Given the description of an element on the screen output the (x, y) to click on. 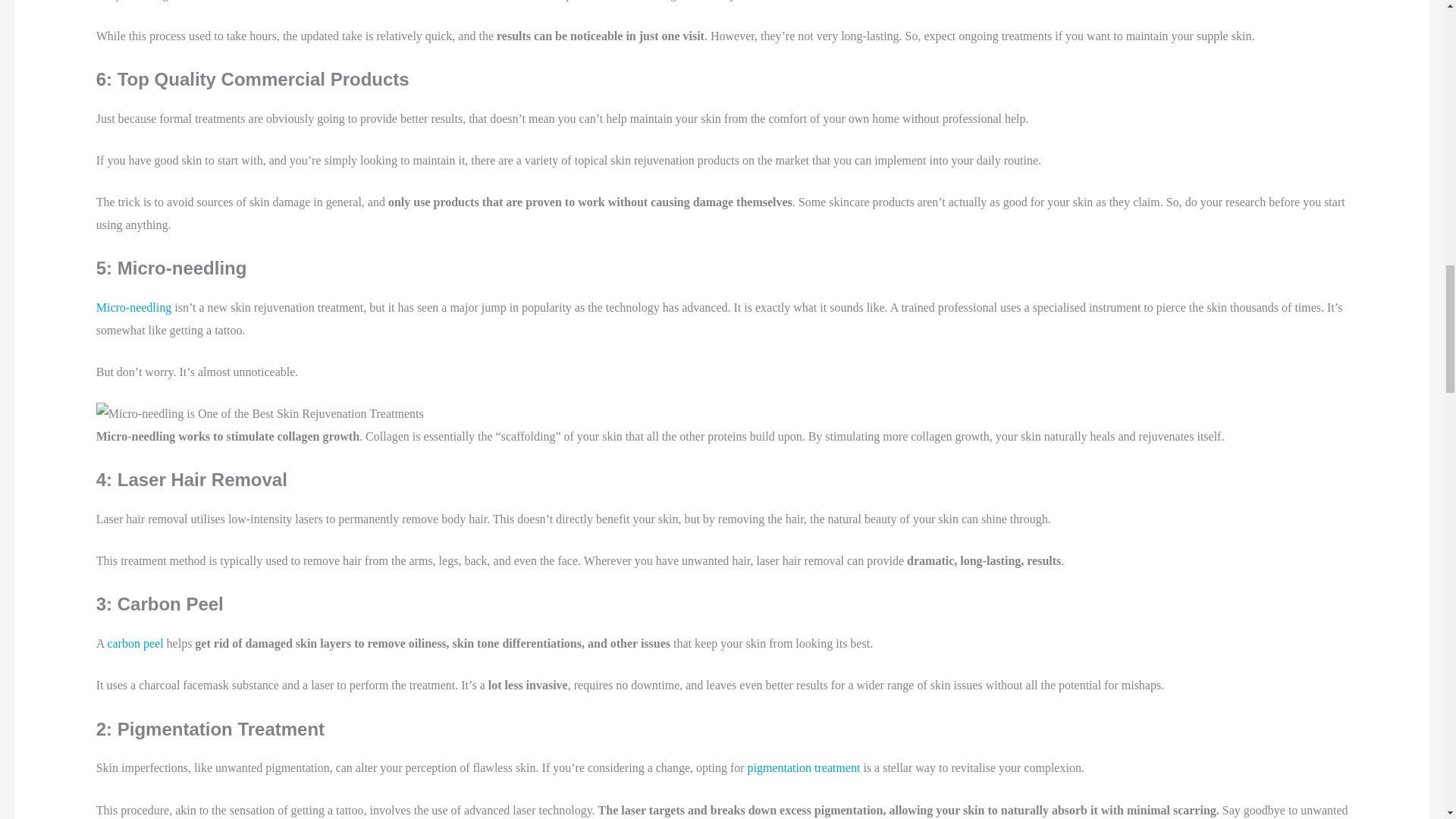
carbon peel (134, 643)
Micro-needling (133, 307)
pigmentation treatment (804, 767)
